Given the description of an element on the screen output the (x, y) to click on. 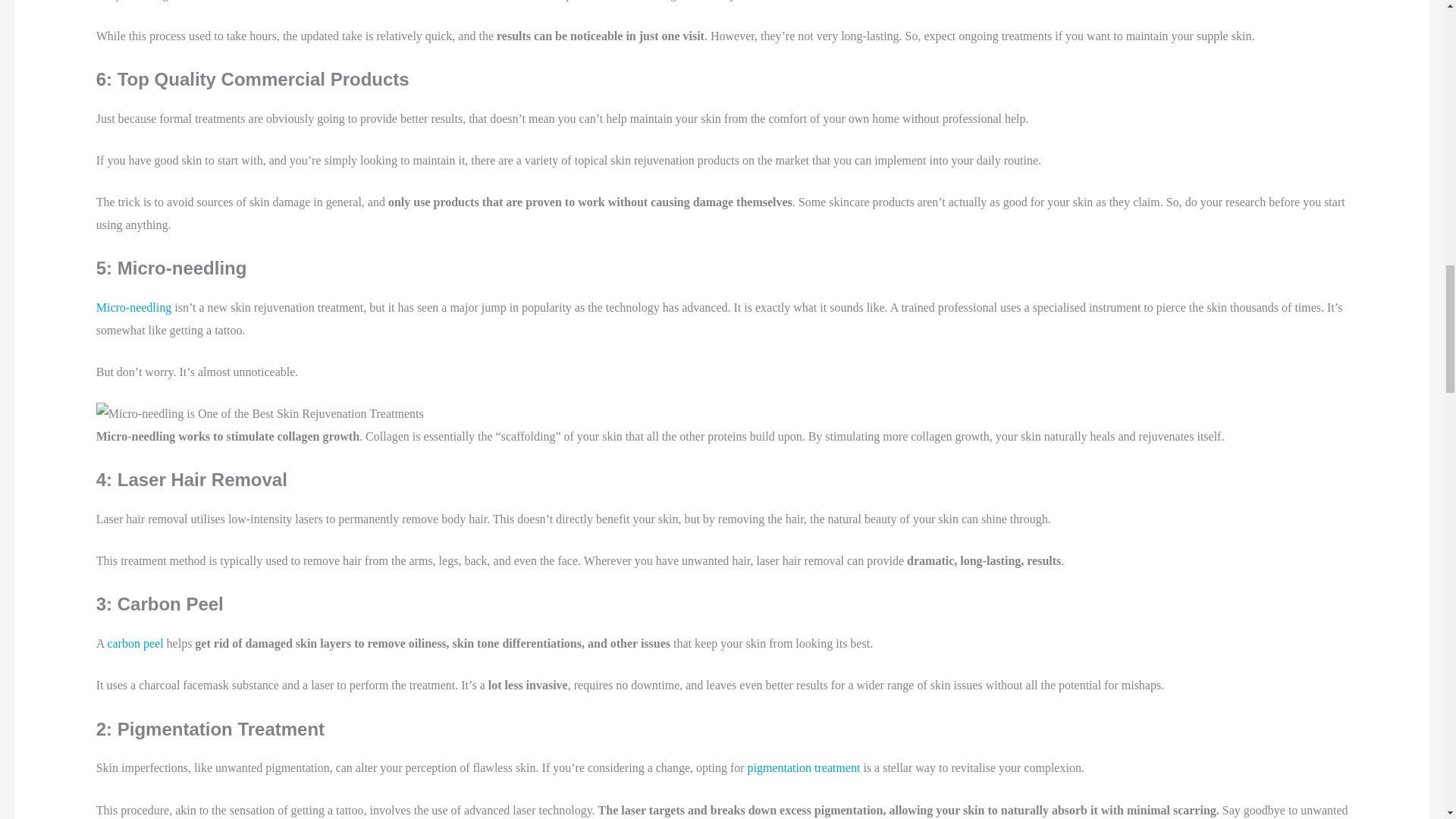
carbon peel (134, 643)
Micro-needling (133, 307)
pigmentation treatment (804, 767)
